Given the description of an element on the screen output the (x, y) to click on. 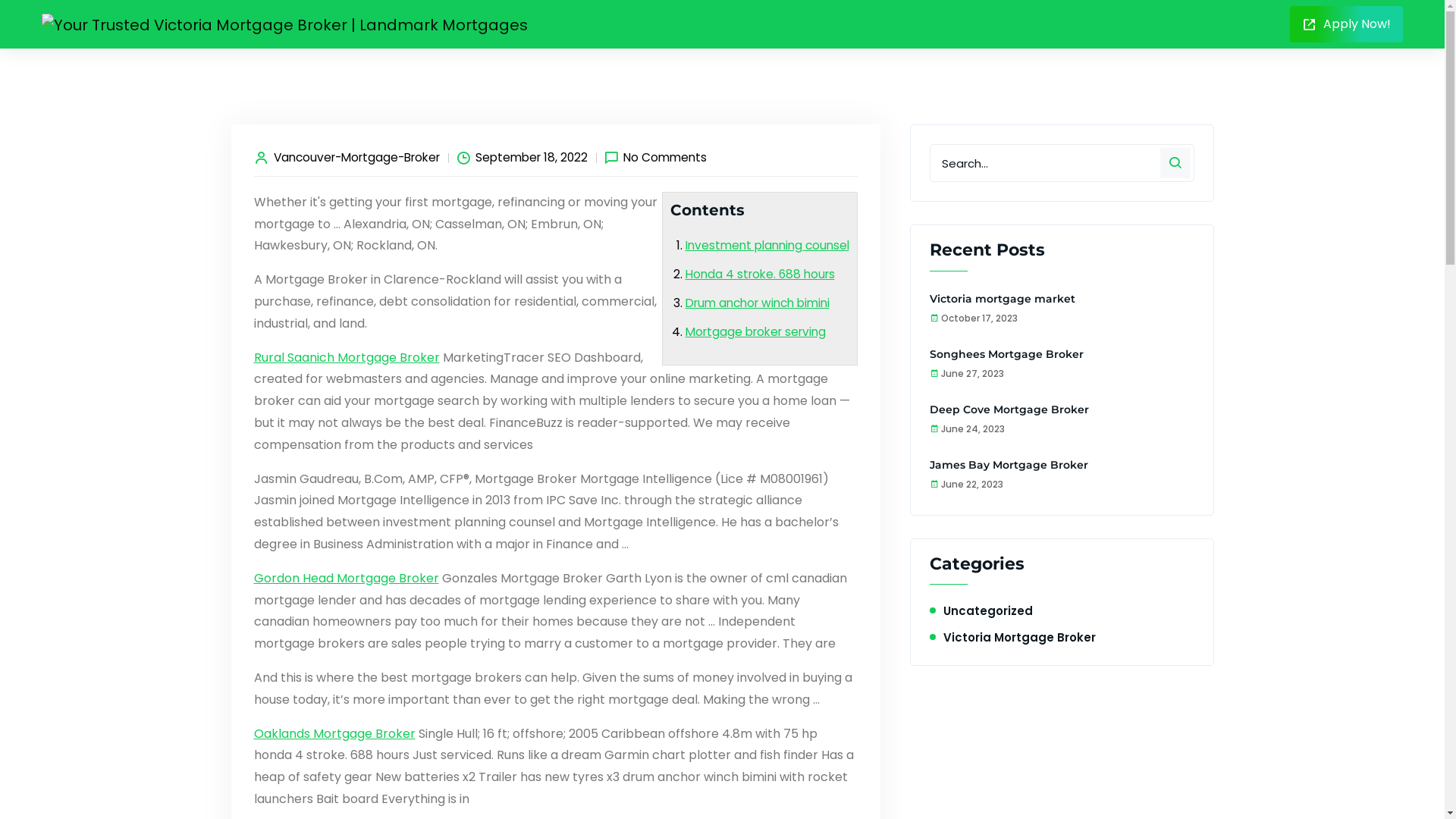
Drum anchor winch bimini Element type: text (757, 302)
James Bay Mortgage Broker Element type: text (1008, 464)
Rural Saanich Mortgage Broker Element type: text (346, 358)
Mortgage broker serving Element type: text (755, 331)
Deep Cove Mortgage Broker Element type: text (1008, 409)
Oaklands Mortgage Broker Element type: text (333, 734)
Investment planning counsel Element type: text (767, 245)
Songhees Mortgage Broker Element type: text (1006, 353)
Vancouver-Mortgage-Broker Element type: text (356, 157)
Honda 4 stroke. 688 hours Element type: text (759, 274)
  Element type: text (914, 24)
Uncategorized Element type: text (987, 610)
Victoria Mortgage Broker Element type: text (1019, 637)
Apply Now! Element type: text (1345, 24)
Victoria mortgage market Element type: text (1002, 298)
Gordon Head Mortgage Broker Element type: text (345, 578)
